Given the description of an element on the screen output the (x, y) to click on. 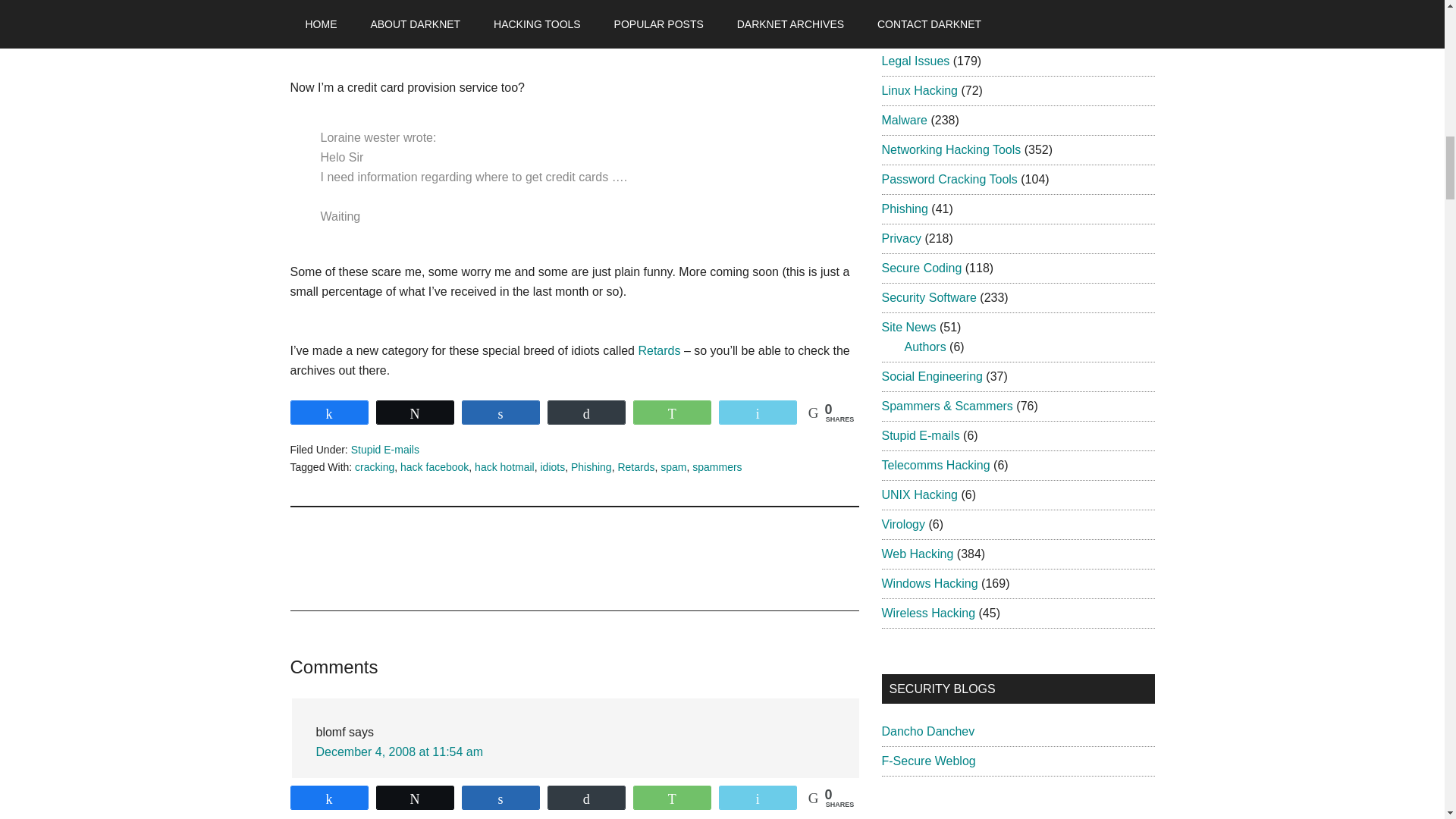
Award-winning computer security news (921, 816)
Mind Streams of Information Security Knowledge (927, 730)
hack hotmail (504, 467)
Retards (658, 350)
Phishing (590, 467)
idiots (552, 467)
Retards (635, 467)
hack facebook (434, 467)
Stupid E-mails (384, 449)
News from the lab. (927, 760)
December 4, 2008 at 11:54 am (399, 751)
cracking (374, 467)
spammers (717, 467)
spam (673, 467)
